Given the description of an element on the screen output the (x, y) to click on. 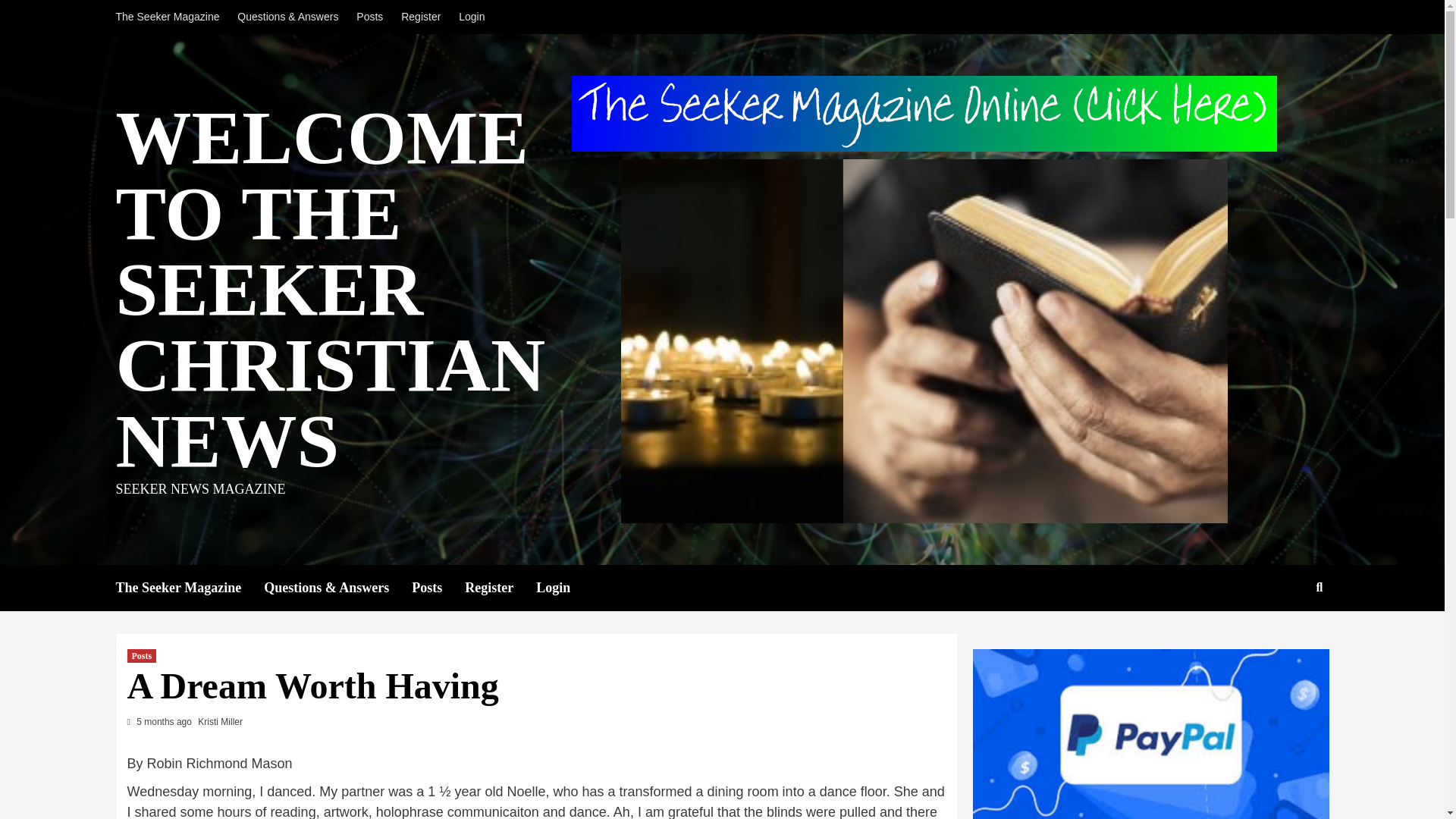
The Seeker Magazine (171, 17)
Register (499, 587)
Posts (142, 655)
Posts (438, 587)
The Seeker Magazine (189, 587)
Login (563, 587)
Register (420, 17)
Login (471, 17)
Posts (369, 17)
Kristi Miller (220, 721)
5 months ago (164, 721)
Search (1283, 636)
